Given the description of an element on the screen output the (x, y) to click on. 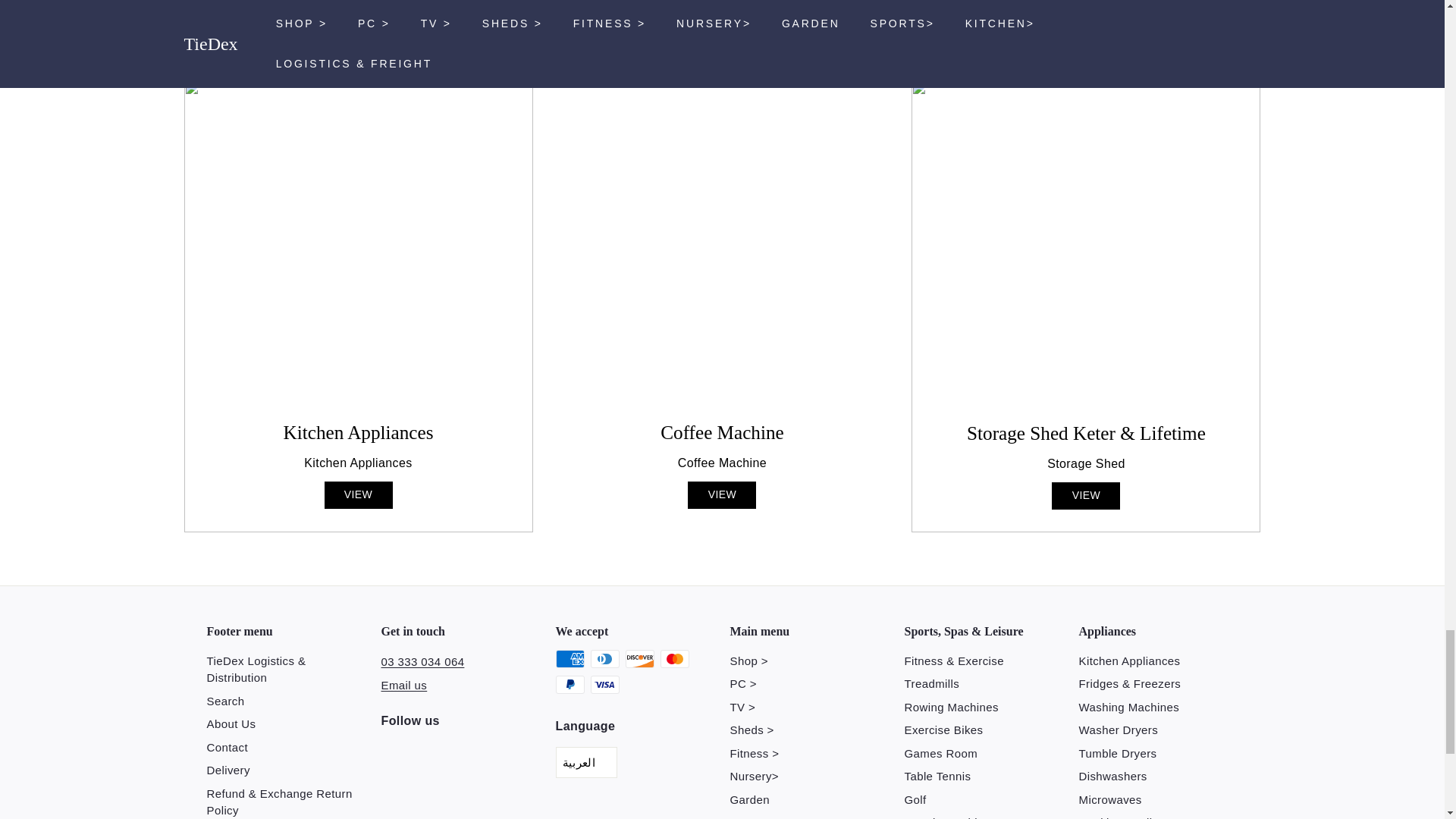
Visa (603, 684)
Discover (638, 659)
PayPal (568, 684)
American Express (568, 659)
Diners Club (603, 659)
Mastercard (673, 659)
